Given the description of an element on the screen output the (x, y) to click on. 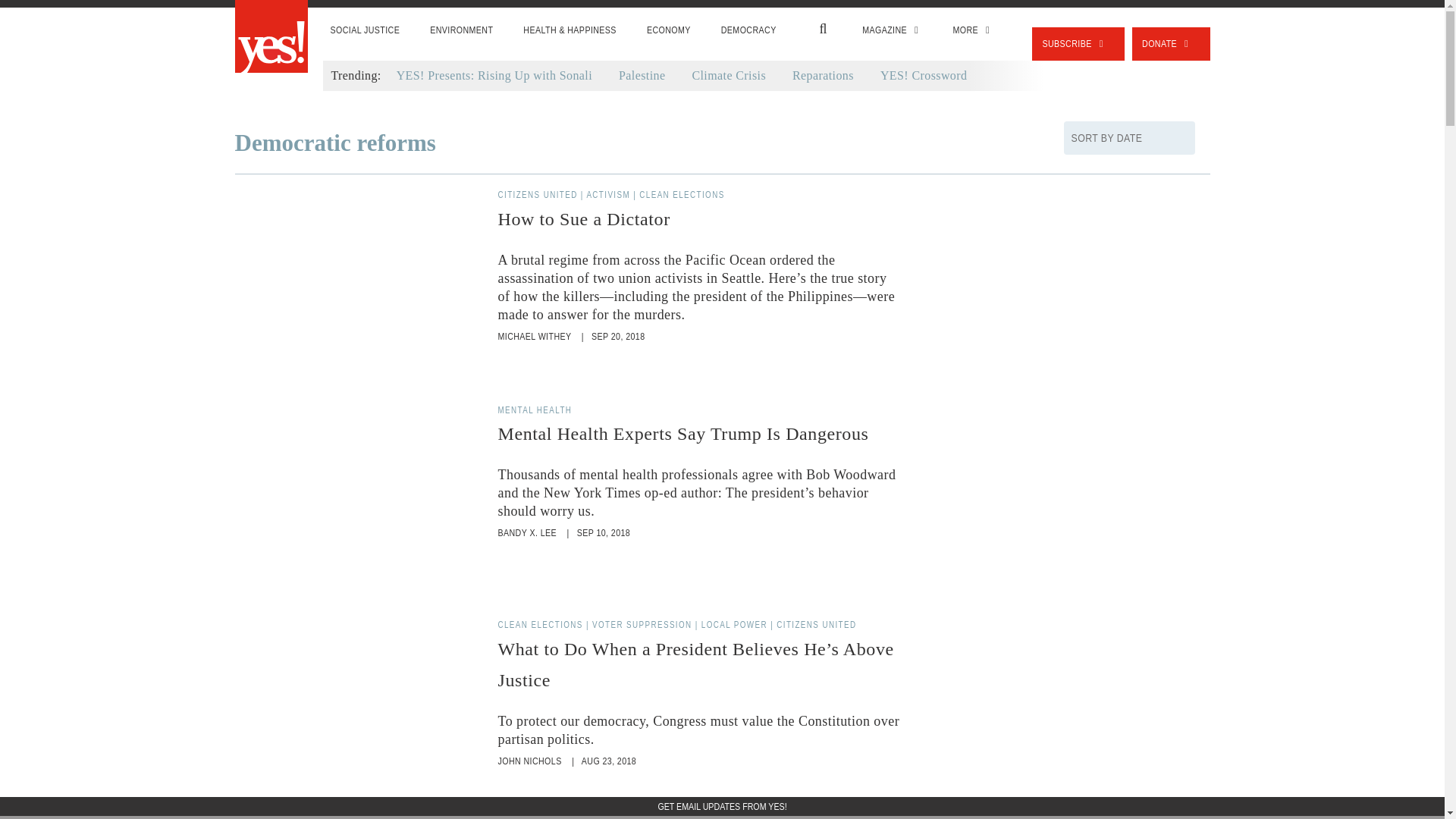
MORE (973, 30)
Yes! (270, 37)
SOCIAL JUSTICE (364, 30)
SUBSCRIBE (1078, 43)
ECONOMY (668, 30)
MAGAZINE (892, 30)
ENVIRONMENT (461, 30)
DONATE (1170, 43)
